Given the description of an element on the screen output the (x, y) to click on. 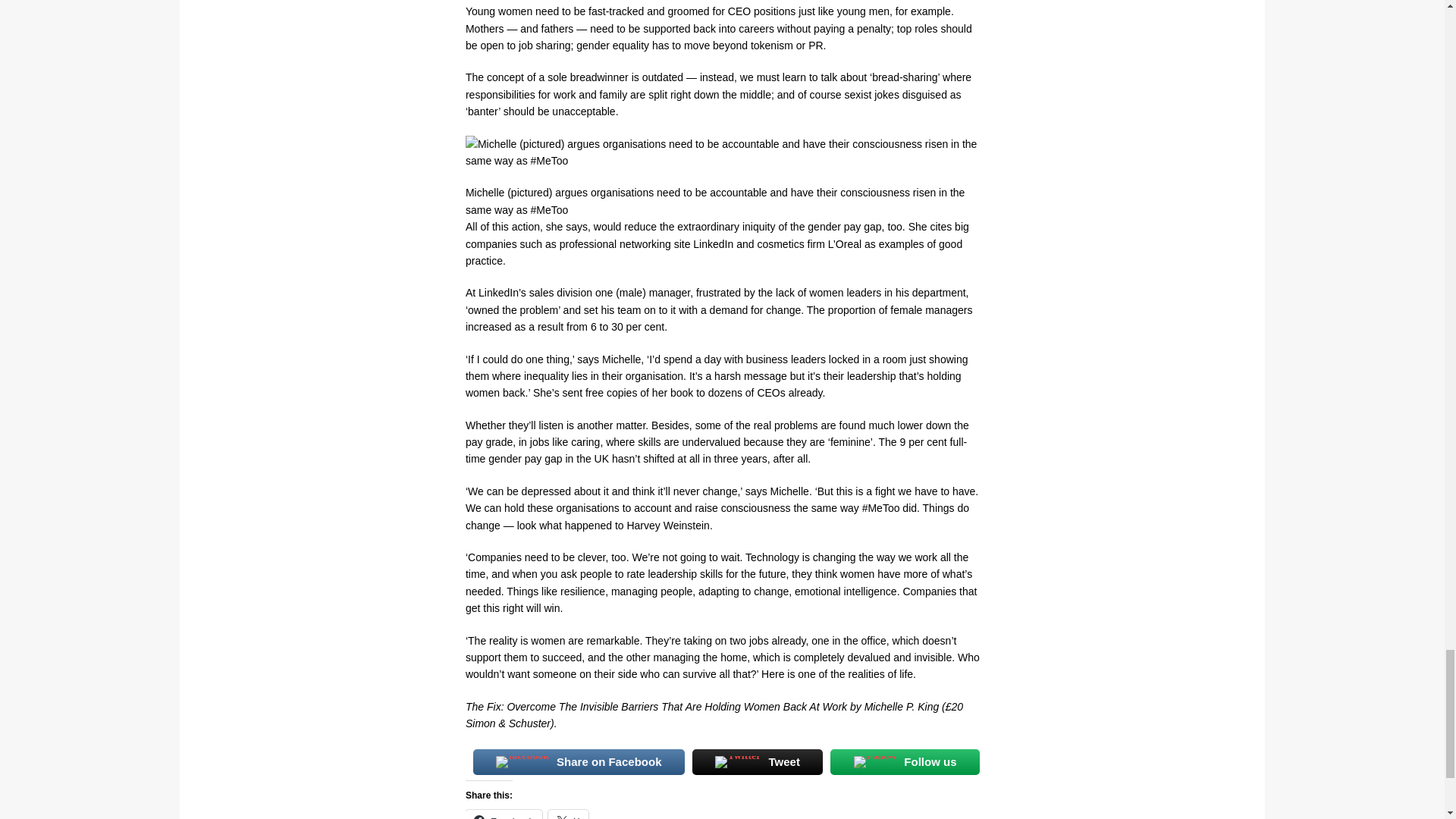
X (568, 814)
Facebook (503, 814)
Tweet (757, 761)
Follow us (904, 761)
Share on Facebook (578, 761)
